Given the description of an element on the screen output the (x, y) to click on. 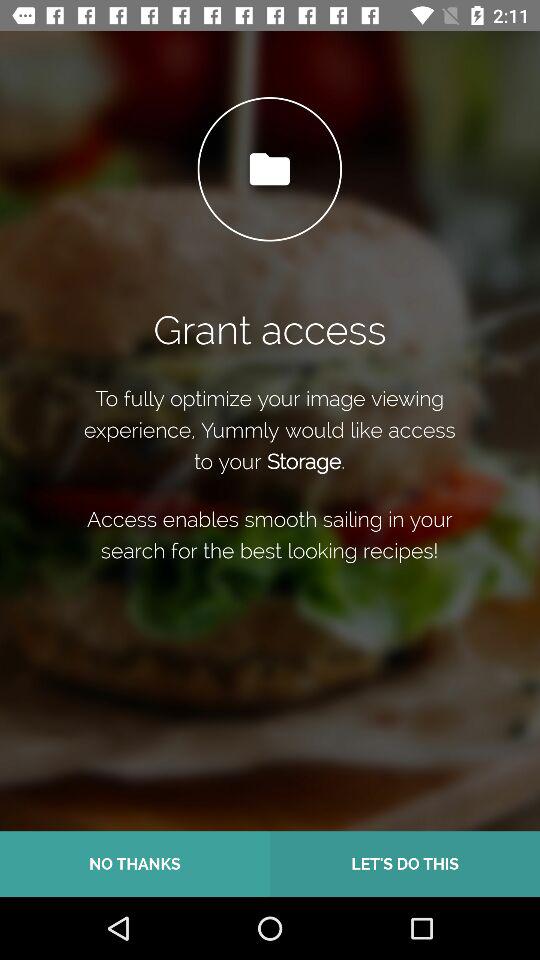
open the let s do icon (405, 863)
